Given the description of an element on the screen output the (x, y) to click on. 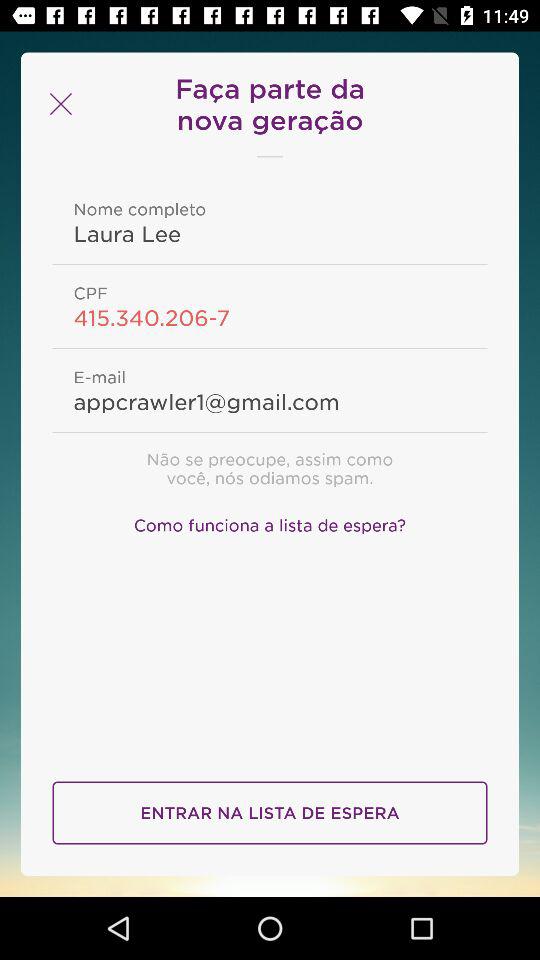
close the current page (58, 103)
